Given the description of an element on the screen output the (x, y) to click on. 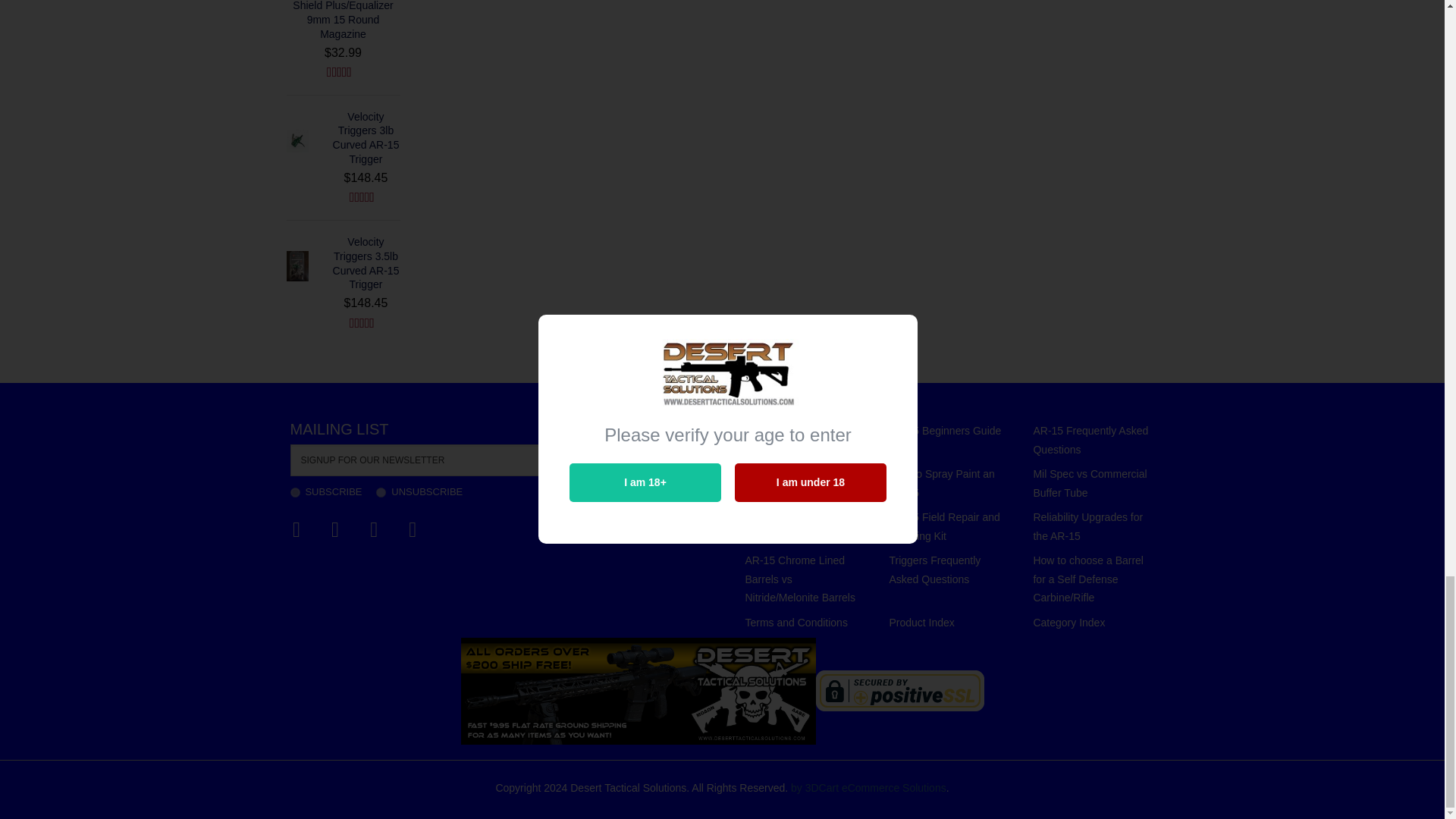
Follow Us on Instagram (412, 529)
Subscribe to our Blog (296, 529)
0 (380, 492)
1 (294, 492)
Follow Us on Twitter (373, 529)
Like Us on Facebook (335, 529)
